Given the description of an element on the screen output the (x, y) to click on. 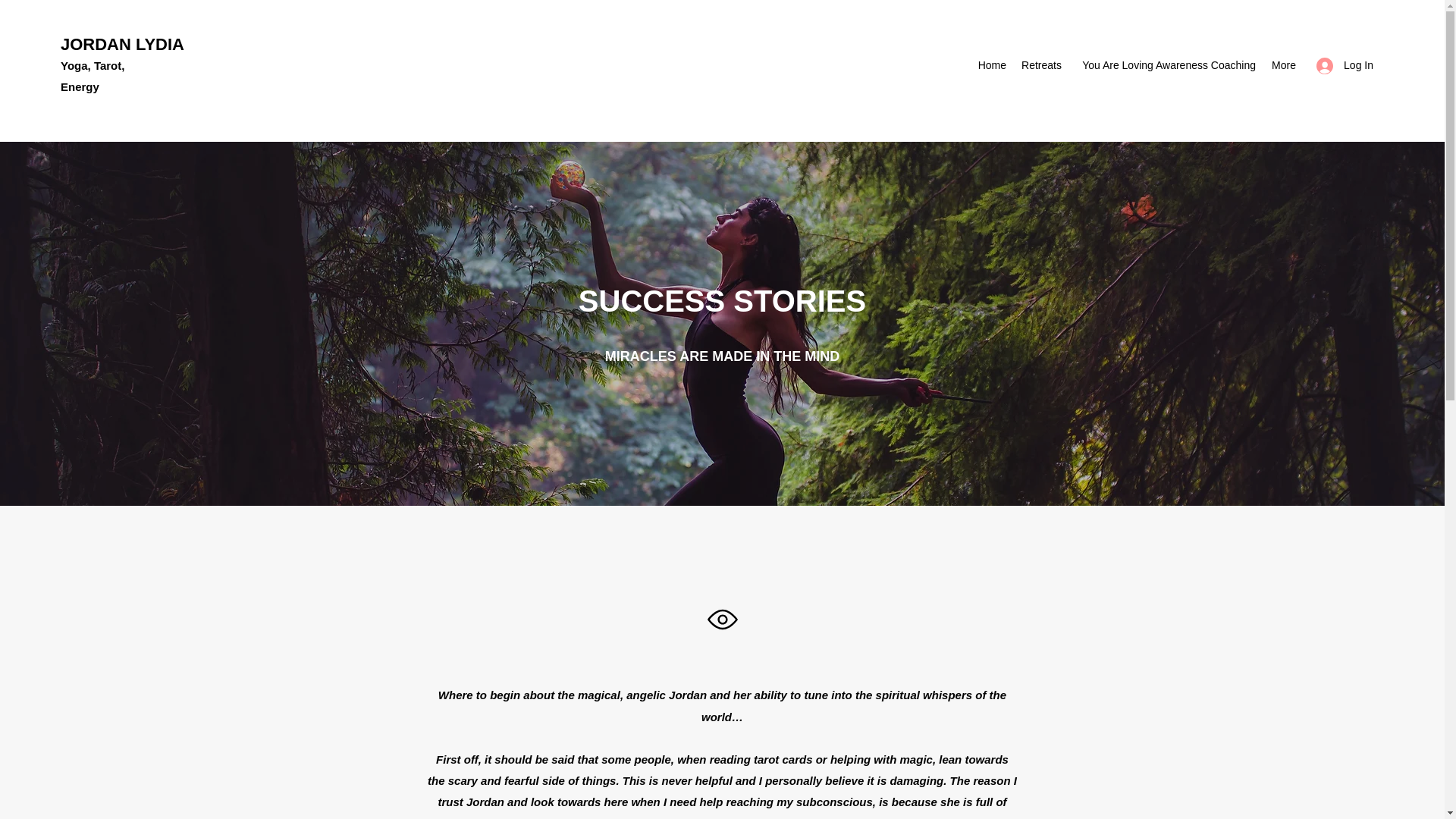
Retreats (1040, 65)
Home (991, 65)
Log In (1345, 65)
You Are Loving Awareness Coaching (1165, 65)
